Given the description of an element on the screen output the (x, y) to click on. 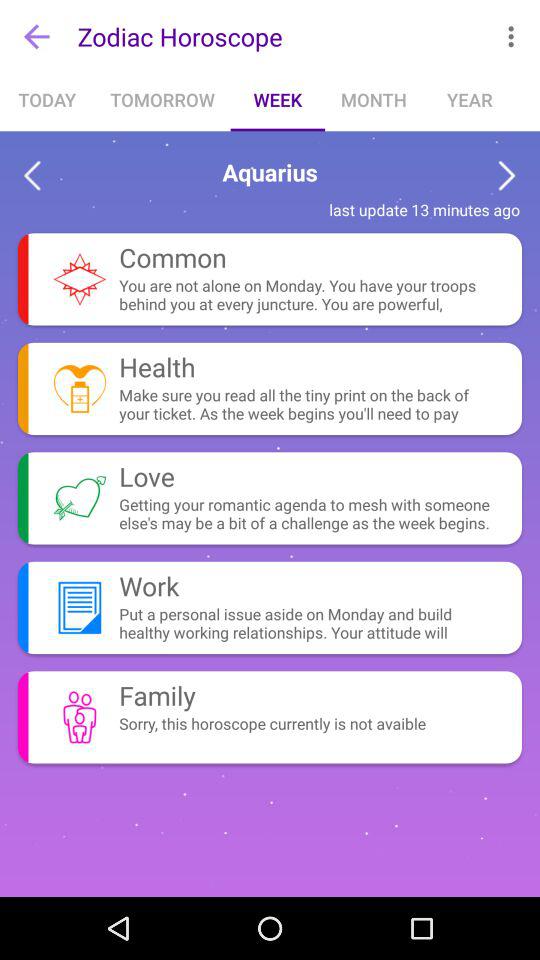
go back (32, 175)
